Given the description of an element on the screen output the (x, y) to click on. 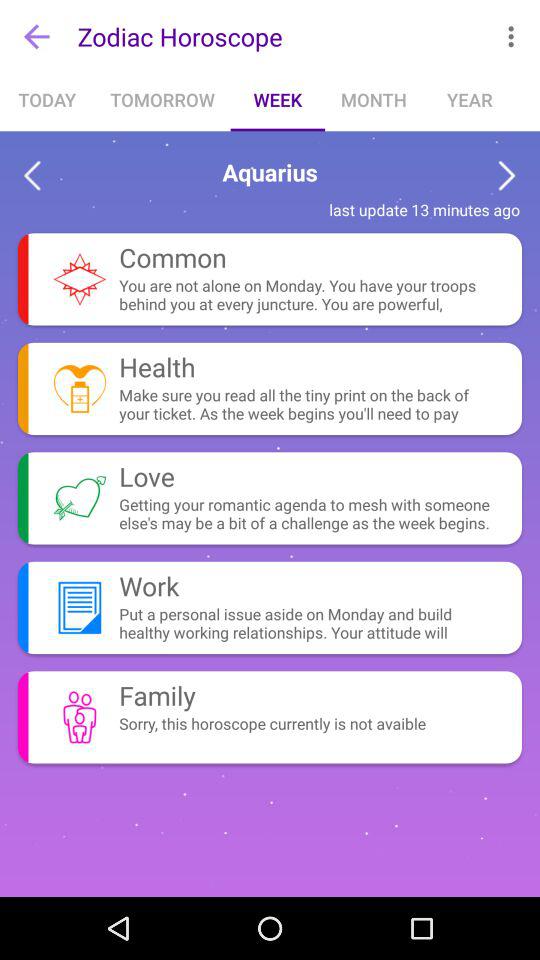
go back (32, 175)
